Given the description of an element on the screen output the (x, y) to click on. 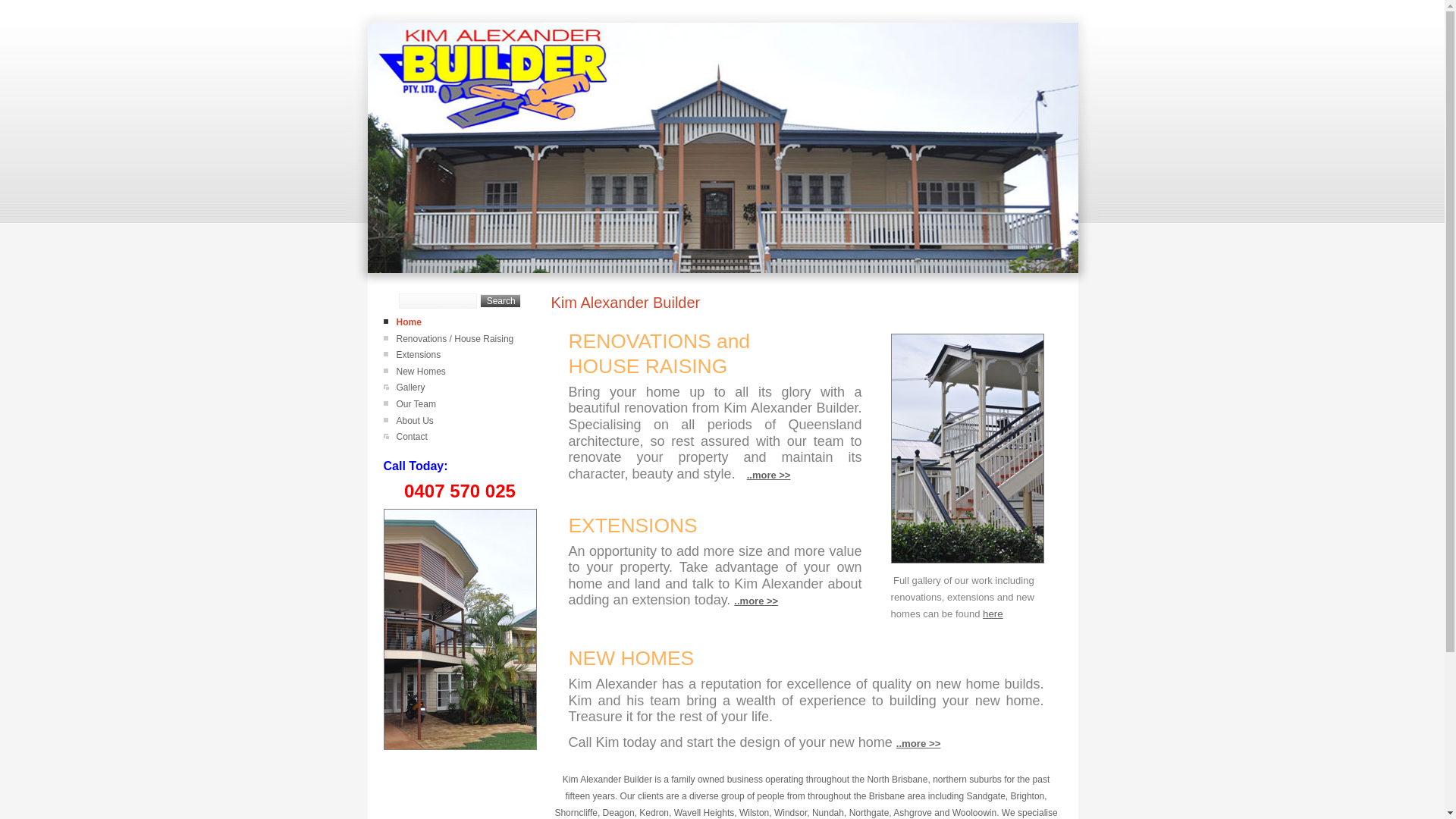
..more >> Element type: text (768, 474)
Search Element type: text (500, 300)
About Us Element type: text (414, 420)
..more >> Element type: text (756, 599)
here Element type: text (992, 612)
Renovations / House Raising Element type: text (454, 338)
Contact Element type: text (410, 436)
Our Team Element type: text (415, 403)
Extensions Element type: text (417, 354)
..more >> Element type: text (918, 743)
Gallery Element type: text (409, 387)
New Homes Element type: text (420, 371)
